Given the description of an element on the screen output the (x, y) to click on. 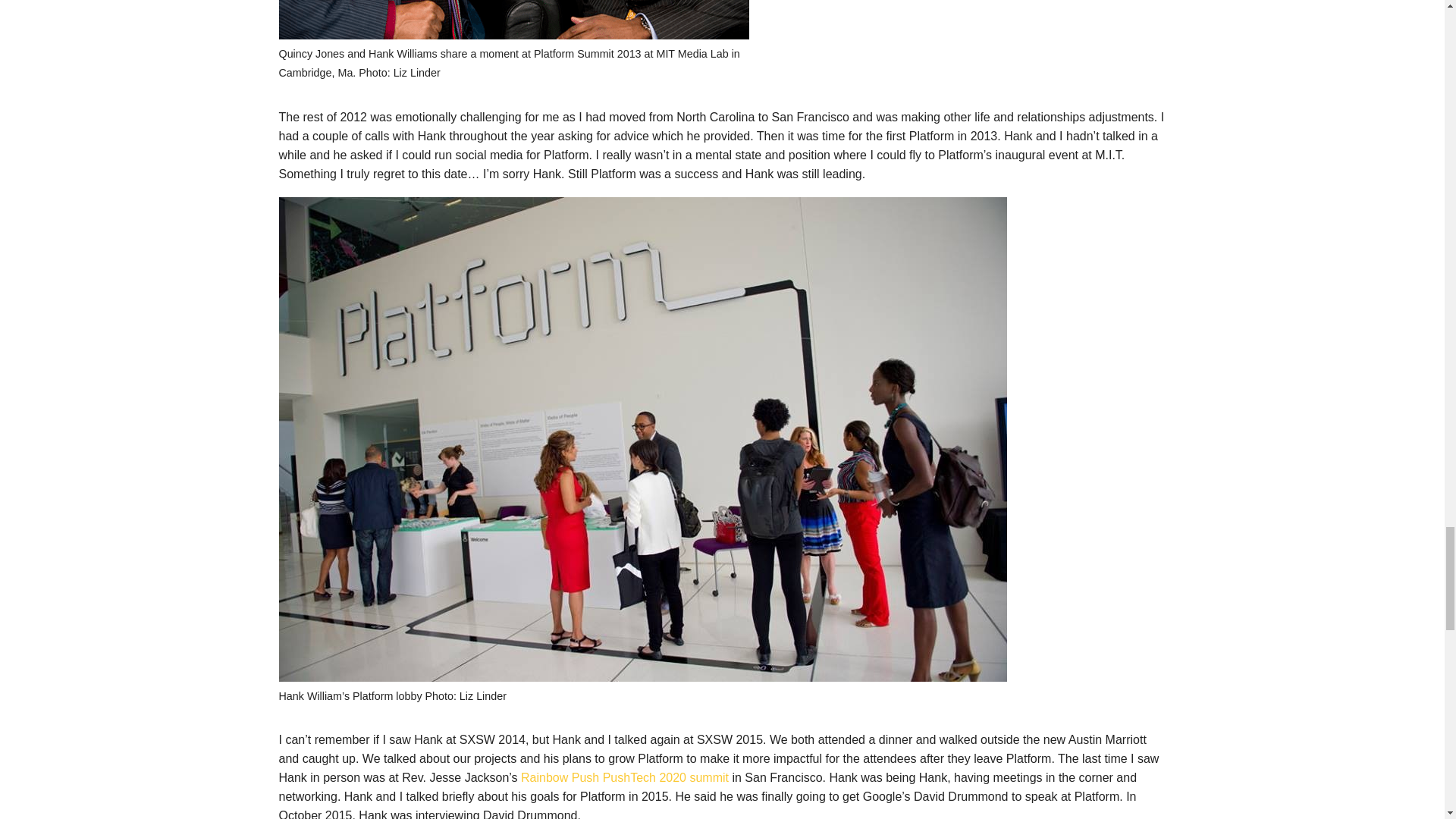
Rainbow Push PushTech 2020 summit (625, 777)
